Given the description of an element on the screen output the (x, y) to click on. 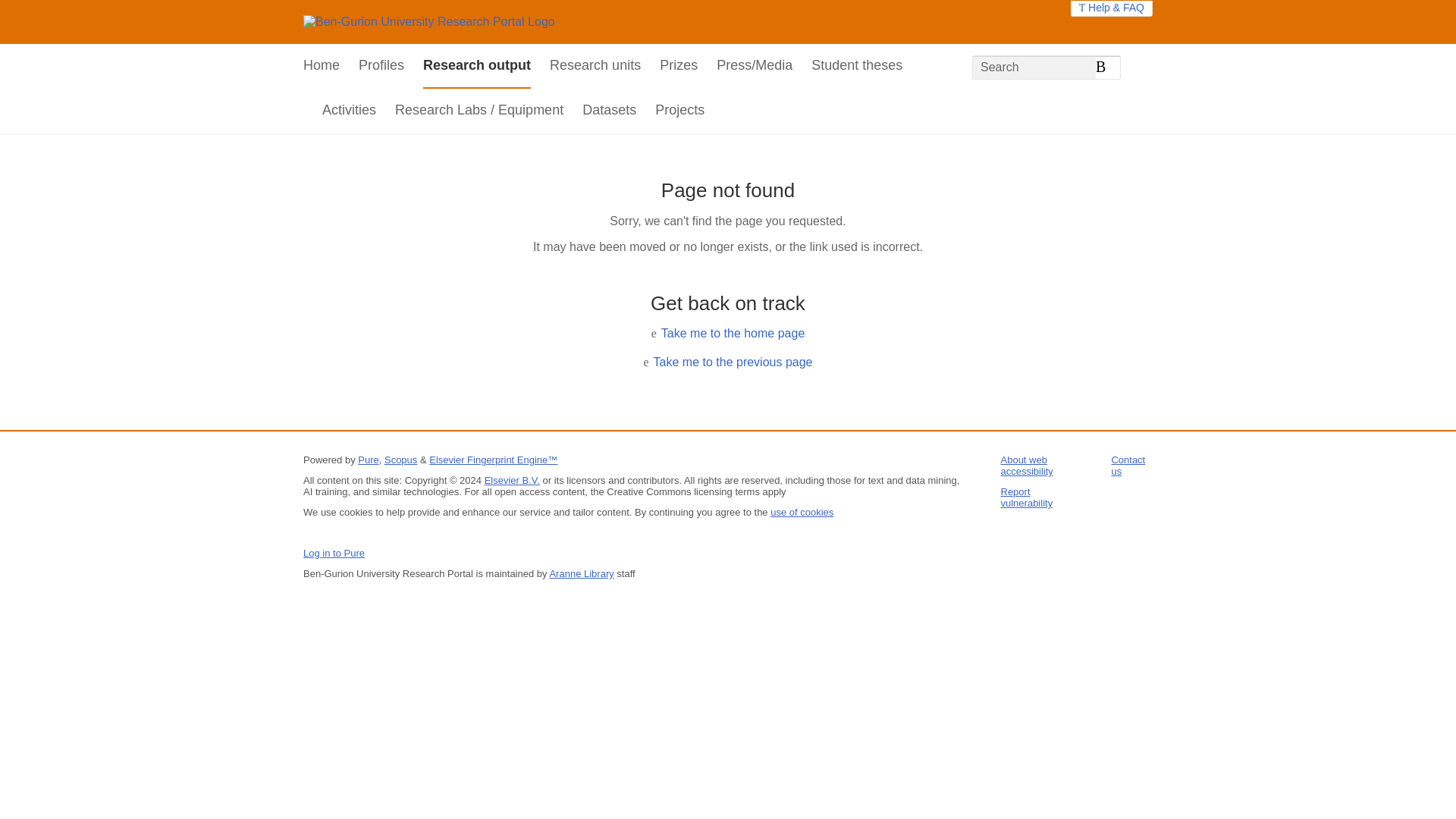
Take me to the previous page (732, 361)
Ben-Gurion University Research Portal Home (428, 21)
Projects (679, 110)
Aranne Library (580, 573)
Research units (595, 66)
Profiles (381, 66)
Pure (368, 460)
About web accessibility (1026, 465)
Research output (477, 66)
